Given the description of an element on the screen output the (x, y) to click on. 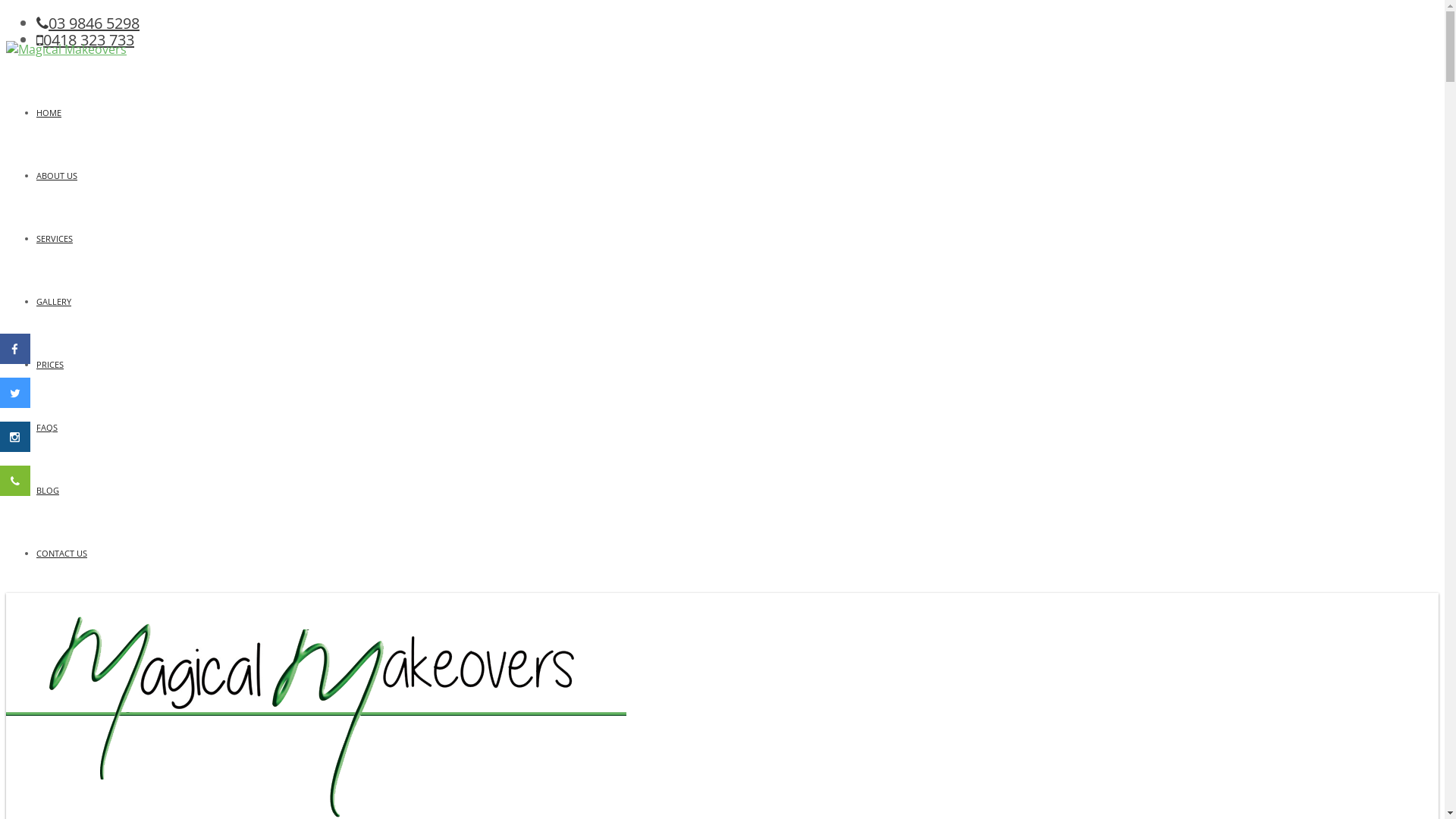
SERVICES Element type: text (54, 238)
GALLERY Element type: text (53, 301)
03 9846 5298 Element type: text (87, 22)
Call us Today Element type: hover (15, 490)
BLOG Element type: text (47, 489)
Visit us on Instagram Element type: hover (15, 447)
Visit us on Twitter Element type: hover (15, 403)
ABOUT US Element type: text (56, 175)
Visit us on Facebook Element type: hover (15, 359)
FAQS Element type: text (46, 427)
CONTACT US Element type: text (61, 552)
PRICES Element type: text (49, 364)
0418 323 733 Element type: text (85, 39)
HOME Element type: text (48, 112)
